Given the description of an element on the screen output the (x, y) to click on. 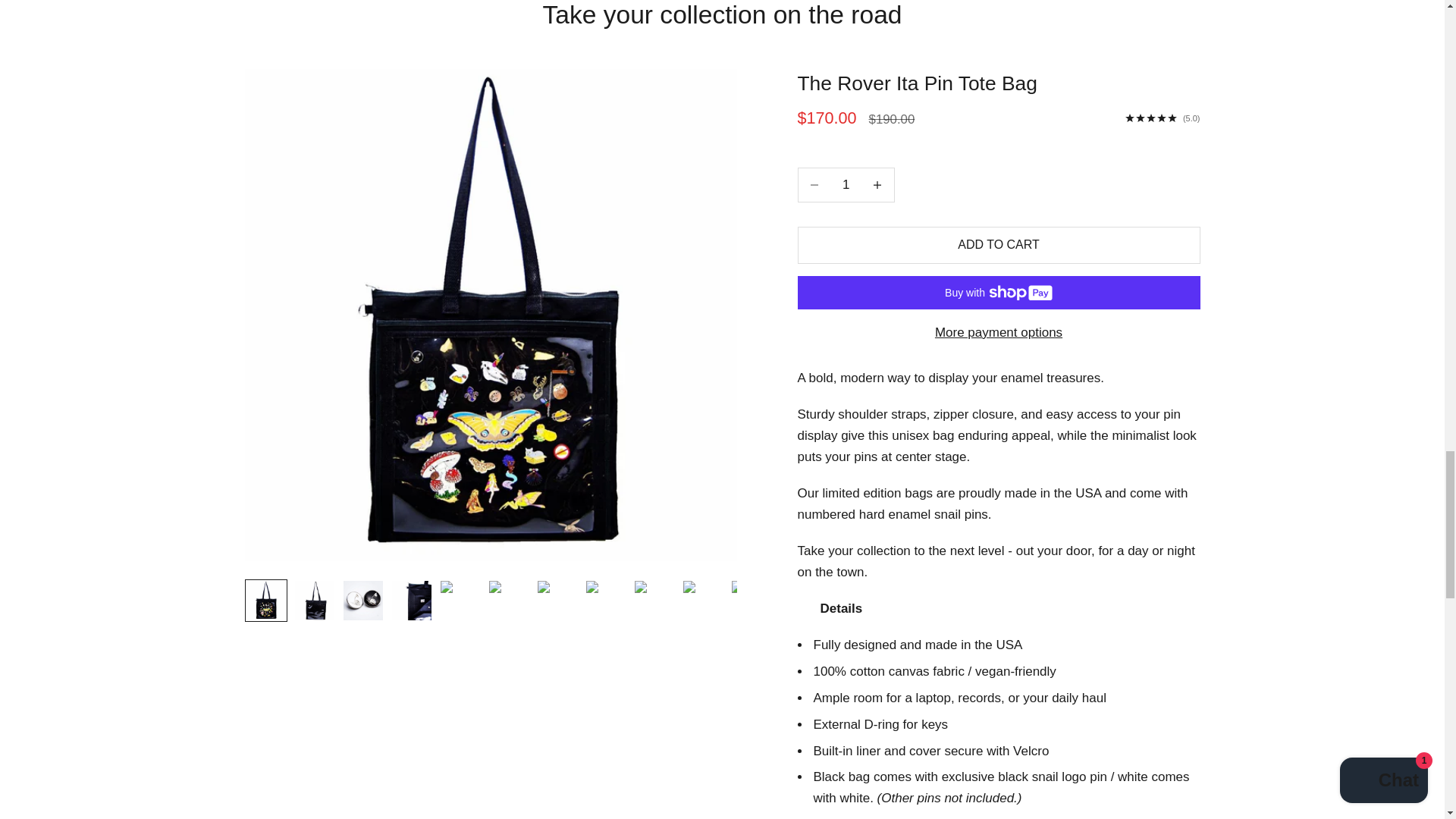
2 reviews (1162, 117)
1 (846, 184)
